Given the description of an element on the screen output the (x, y) to click on. 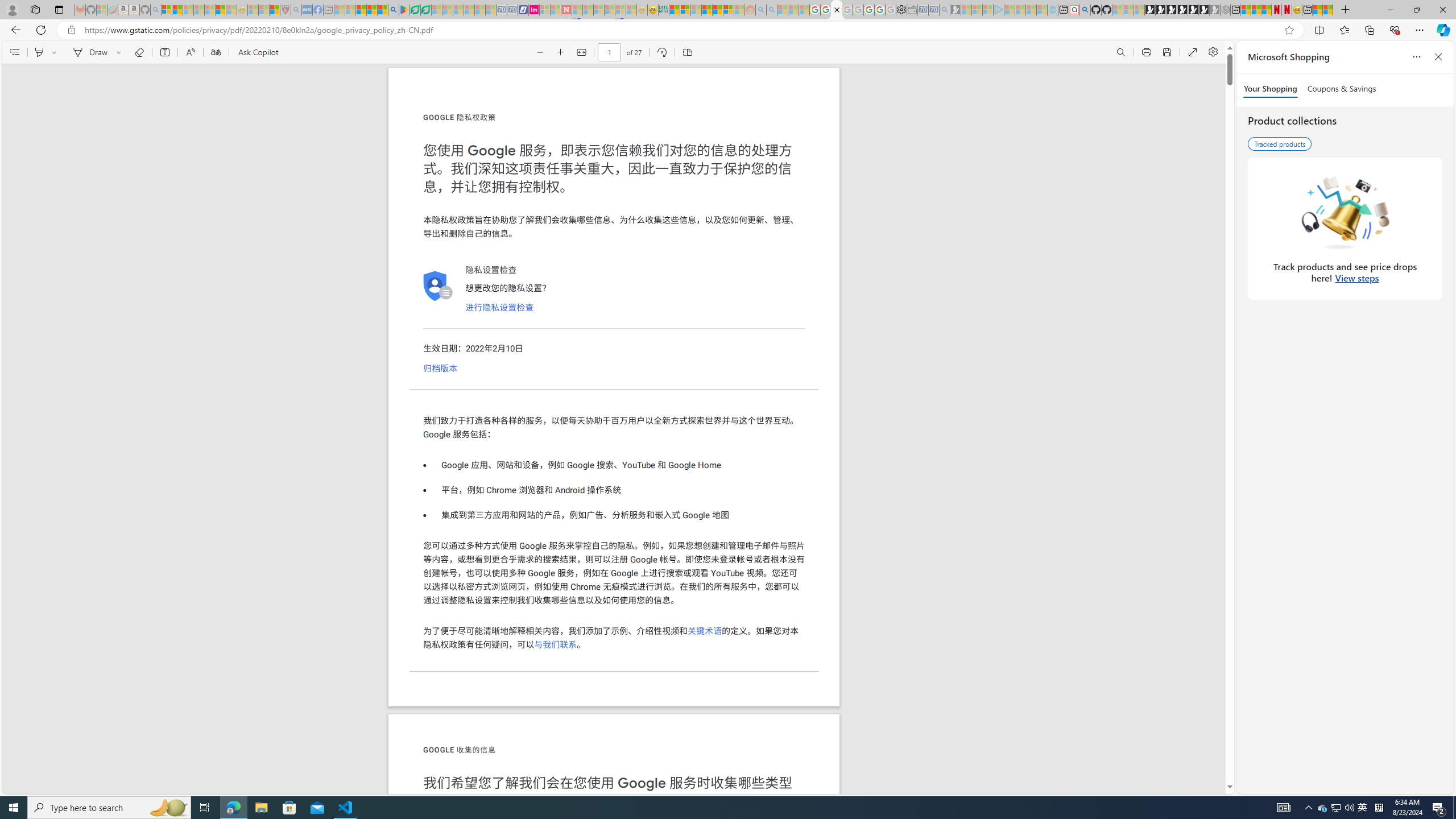
Wildlife - MSN (1317, 9)
Highlight (39, 52)
Microsoft Word - consumer-privacy address update 2.2021 (426, 9)
Pets - MSN (371, 9)
Zoom out (Ctrl+Minus key) (540, 52)
